Given the description of an element on the screen output the (x, y) to click on. 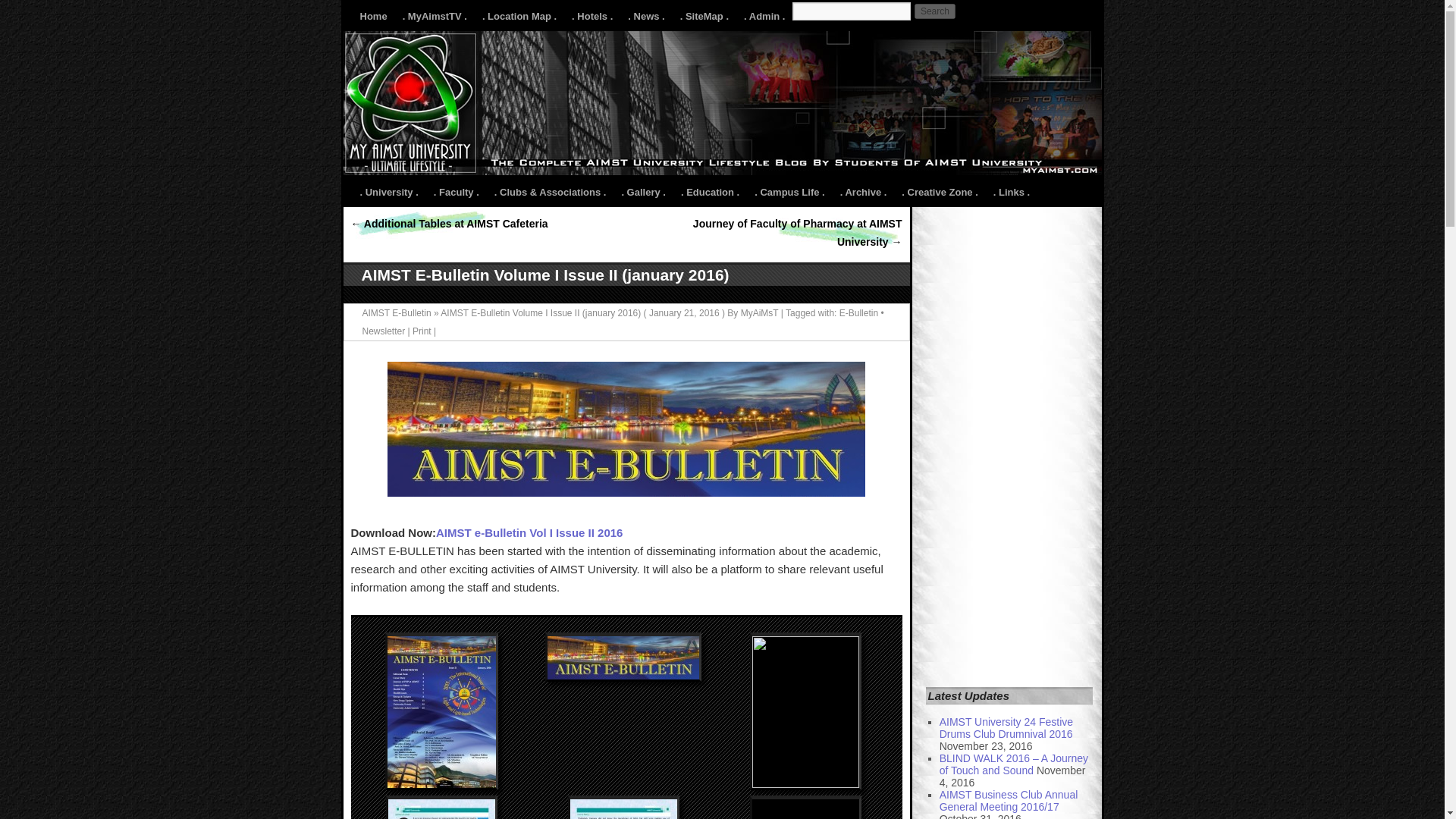
. University . (388, 192)
AIMST University Location Map (519, 16)
My AIMST University Home Directory (373, 16)
Home (373, 16)
. Location Map . (519, 16)
. Faculty . (456, 192)
Aimst University (388, 192)
Search (934, 11)
Search (934, 11)
. Hotels . (592, 16)
. News . (645, 16)
AIMST University On News (645, 16)
Faculties of AIMST University (456, 192)
. MyAimstTV . (434, 16)
. SiteMap . (704, 16)
